Given the description of an element on the screen output the (x, y) to click on. 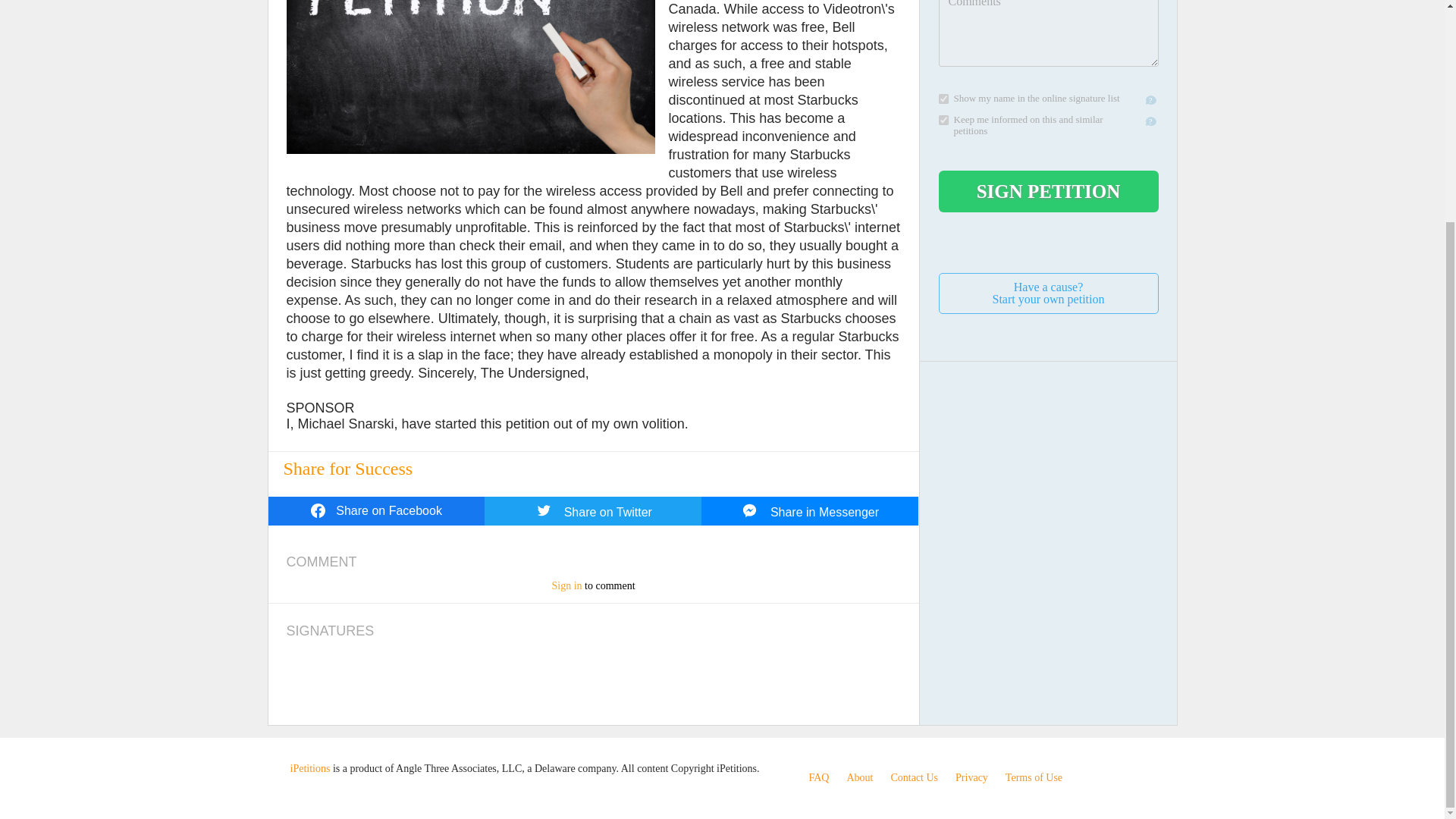
About (1048, 292)
Sign in (858, 777)
SIGN PETITION (565, 585)
FAQ (1048, 191)
Contact Us (818, 777)
iPetitions (913, 777)
Share on Facebook (309, 767)
Privacy (375, 510)
Terms of Use (971, 777)
Share in Messenger (1034, 777)
Share on Twitter (809, 510)
Frequently Asked Question (592, 510)
1 (818, 777)
1 (944, 99)
